Given the description of an element on the screen output the (x, y) to click on. 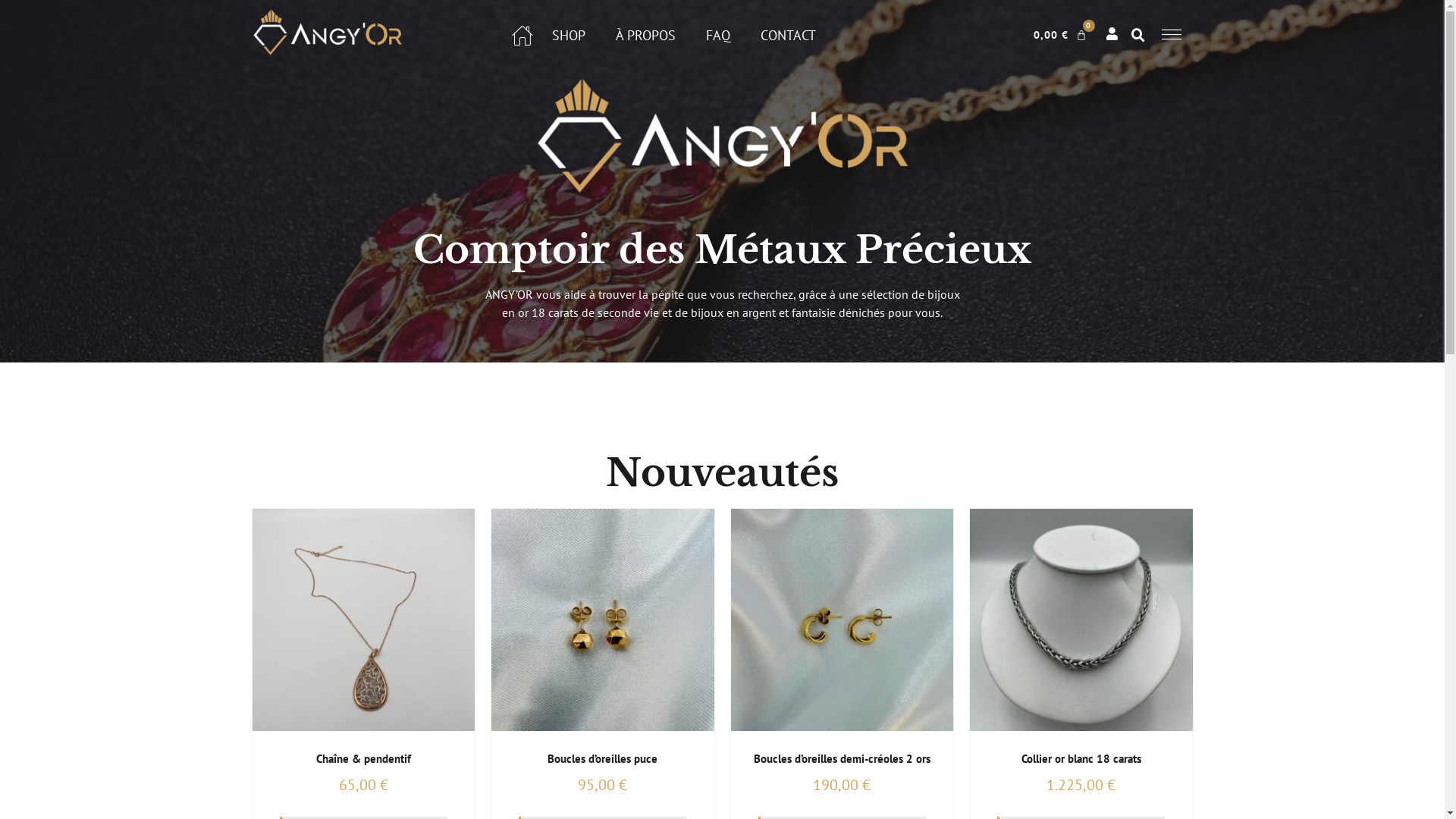
FAQ Element type: text (718, 35)
SHOP Element type: text (568, 35)
CONTACT Element type: text (787, 35)
